Given the description of an element on the screen output the (x, y) to click on. 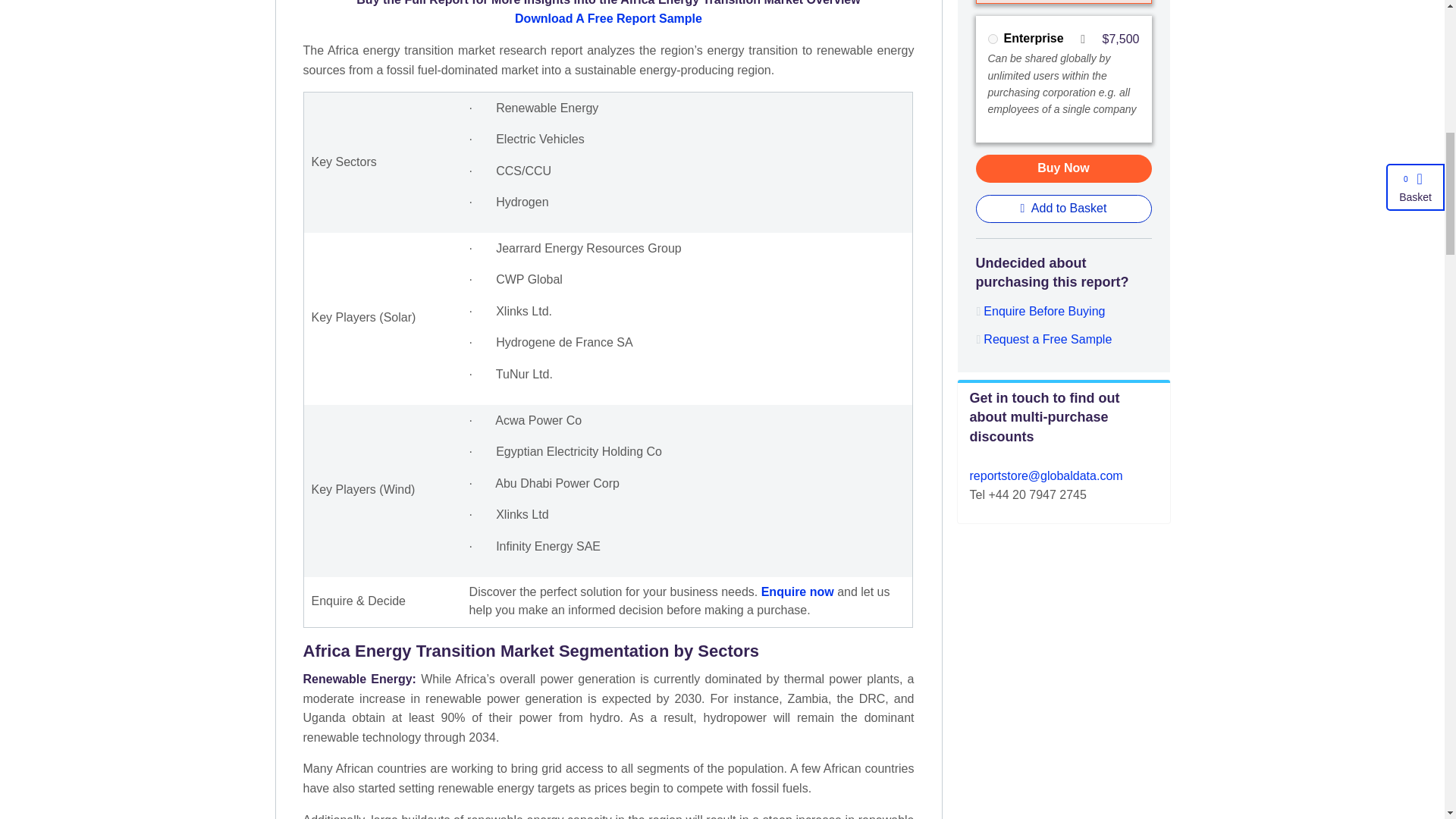
3243717 (992, 39)
